Given the description of an element on the screen output the (x, y) to click on. 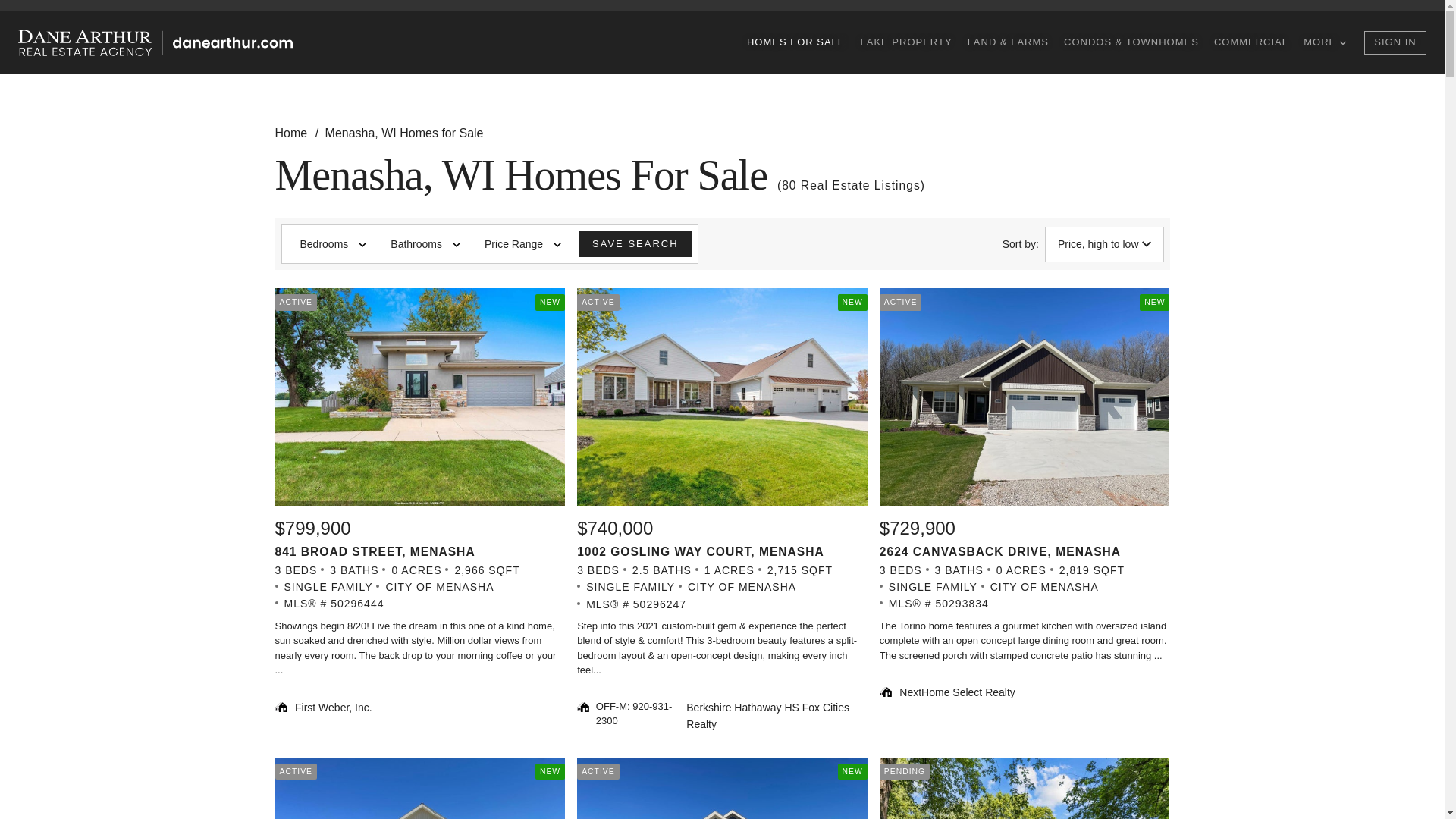
HOMES FOR SALE (795, 42)
DROPDOWN ARROW (1342, 42)
Skip to main content (343, 14)
Home (292, 132)
Bedrooms (333, 243)
Price Range (522, 243)
MORE DROPDOWN ARROW (1324, 42)
Price, high to low (1104, 244)
SIGN IN (1395, 42)
COMMERCIAL (1251, 42)
